Given the description of an element on the screen output the (x, y) to click on. 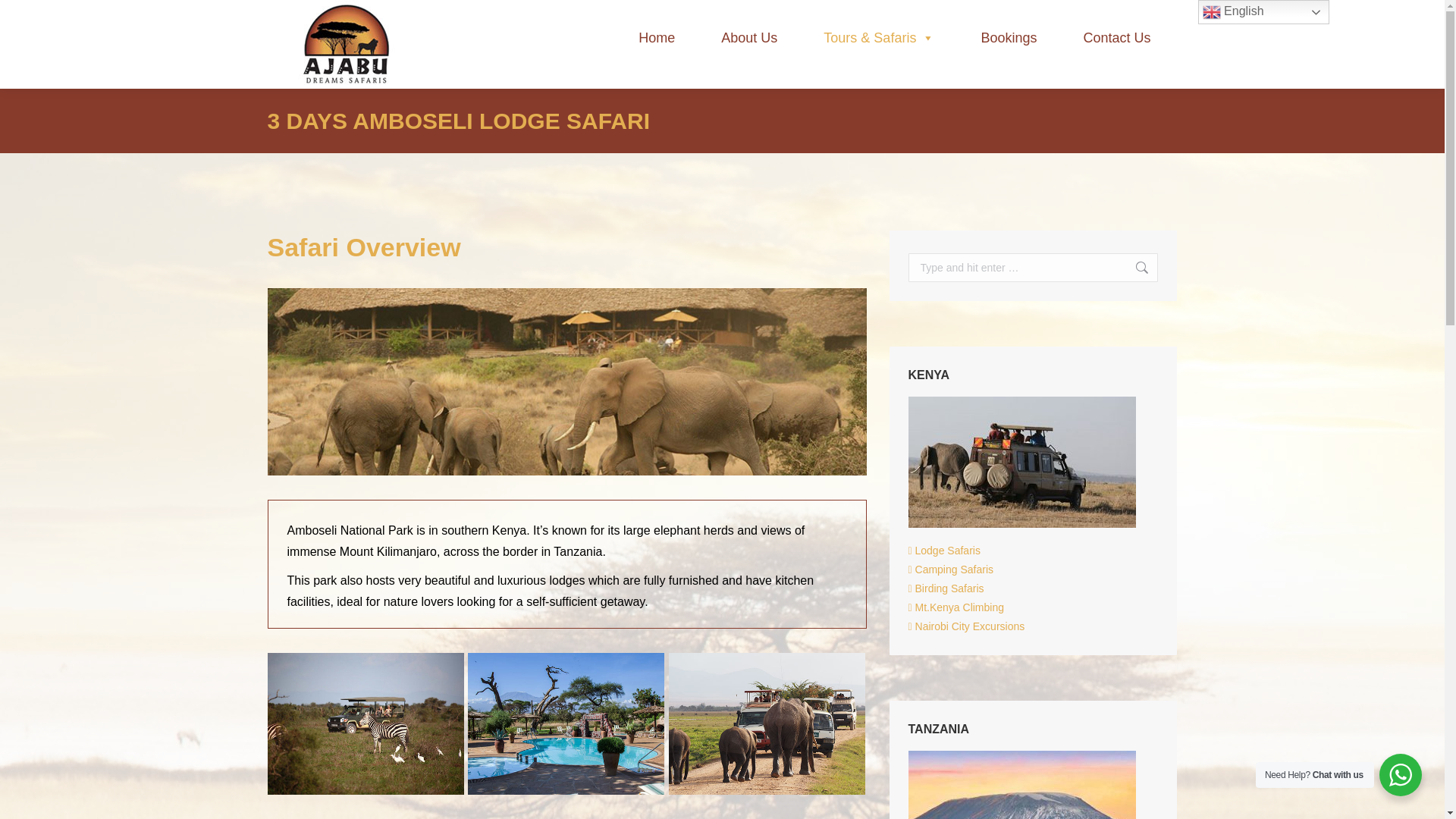
Go! (1134, 267)
Amboseli-Lodge-2 (365, 723)
Amboseli-Lodge-3 (767, 723)
Home (657, 38)
About Us (748, 38)
Contact Us (1116, 38)
Bookings (1007, 38)
Amboseli-Lodge-1 (565, 723)
Go! (1134, 267)
